Given the description of an element on the screen output the (x, y) to click on. 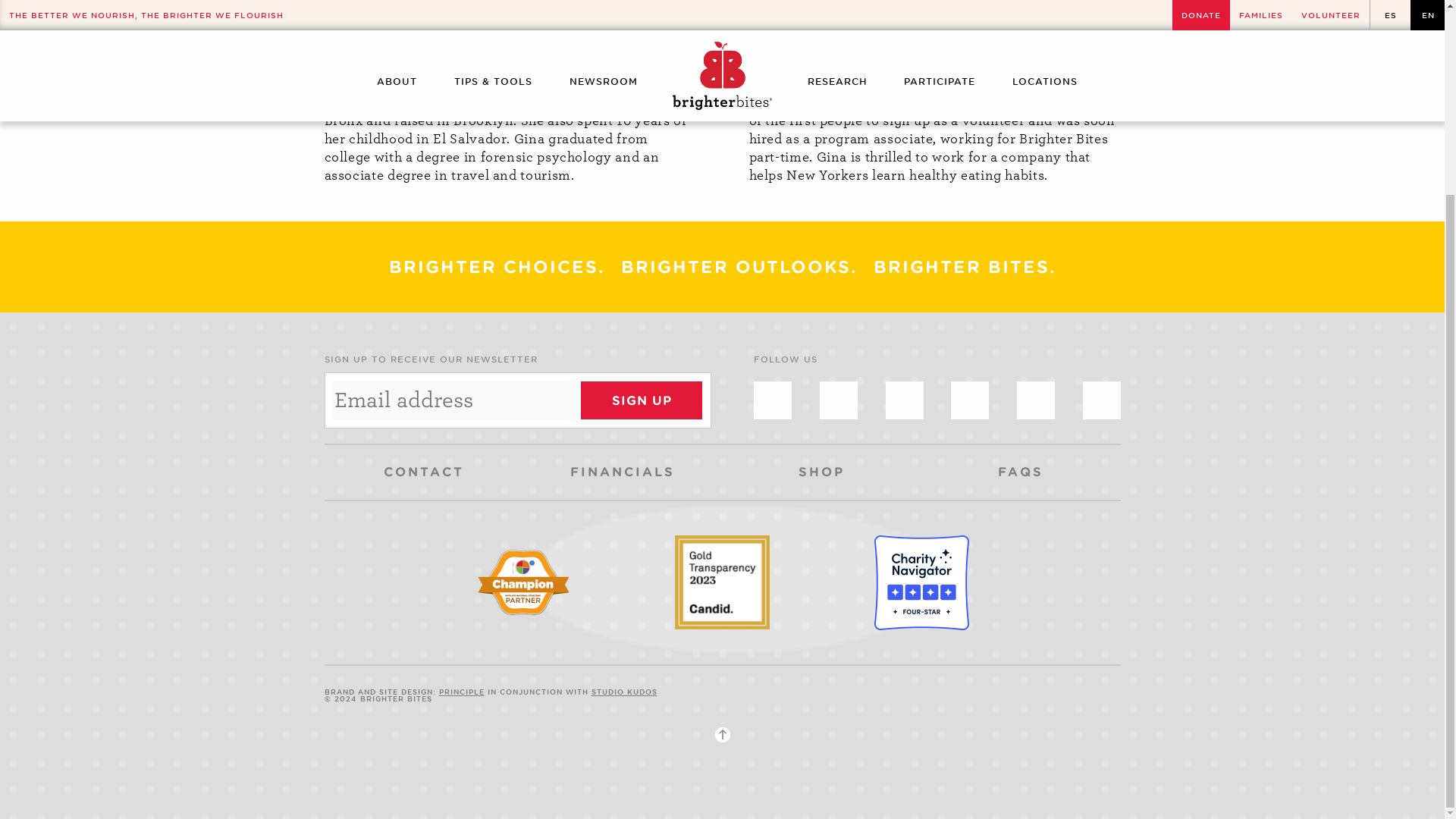
Sign Up (640, 400)
